Given the description of an element on the screen output the (x, y) to click on. 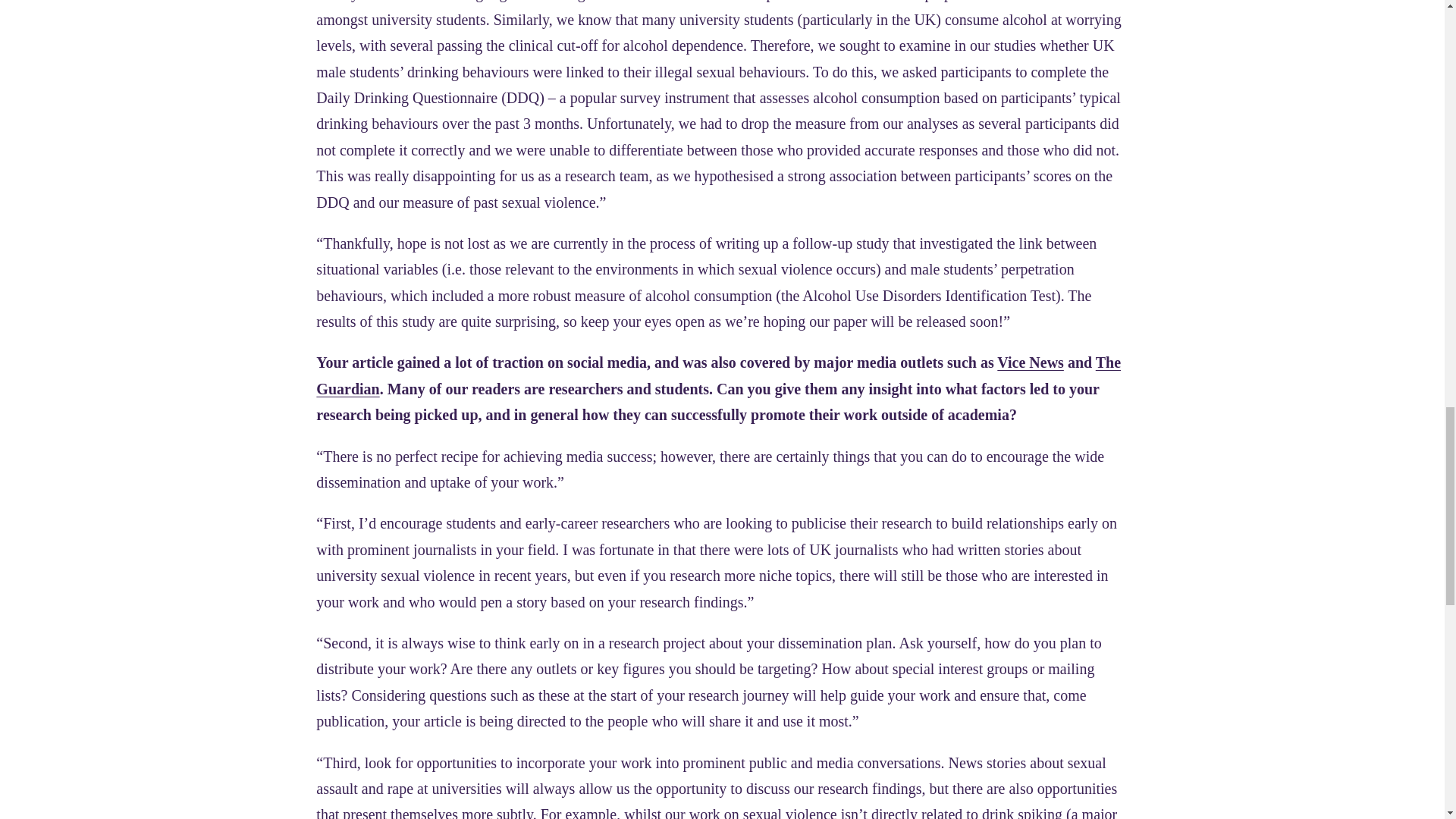
The Guardian (718, 374)
Vice News (1030, 362)
